Given the description of an element on the screen output the (x, y) to click on. 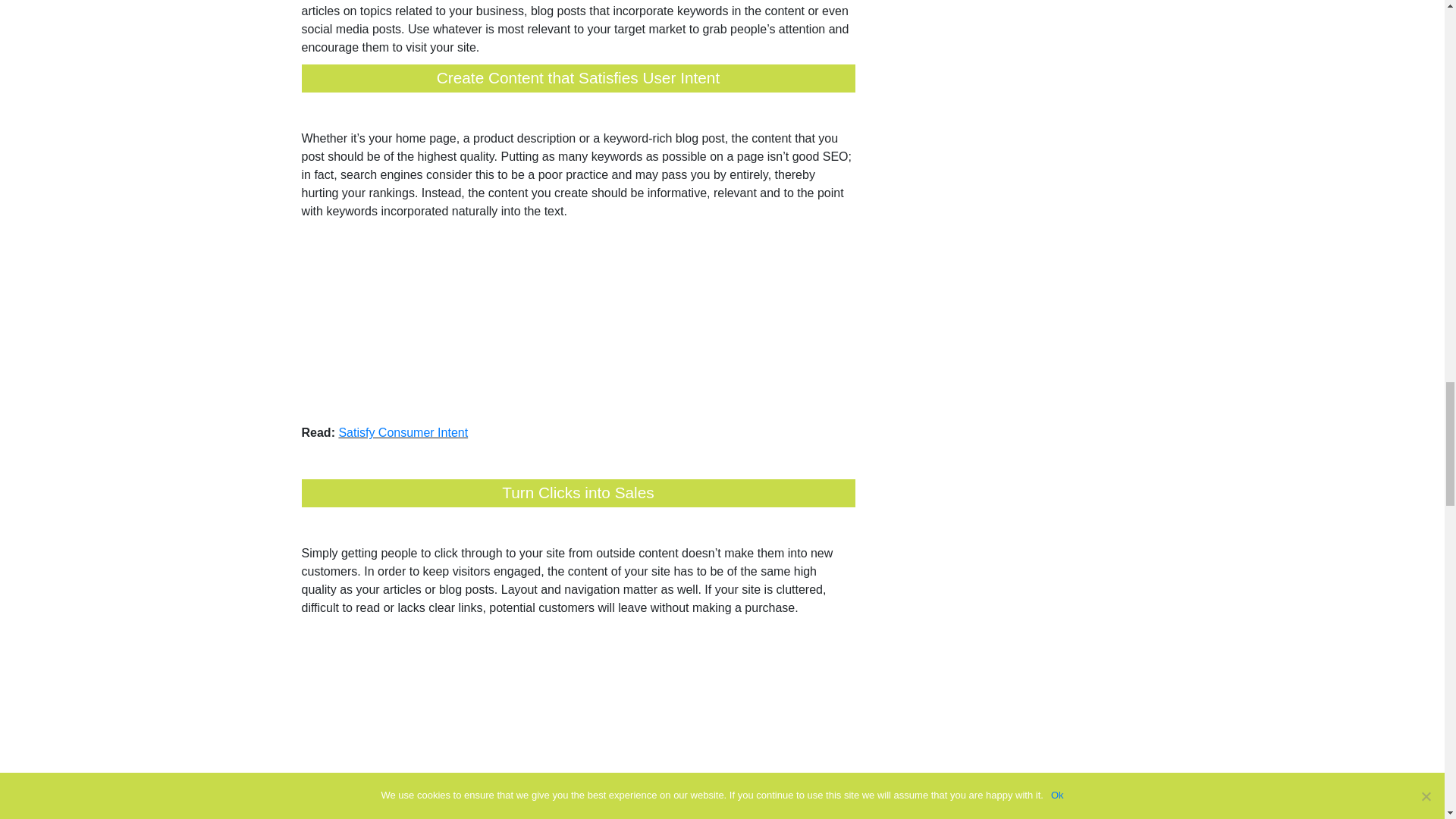
Satisfy Consumer Intent (402, 432)
